Given the description of an element on the screen output the (x, y) to click on. 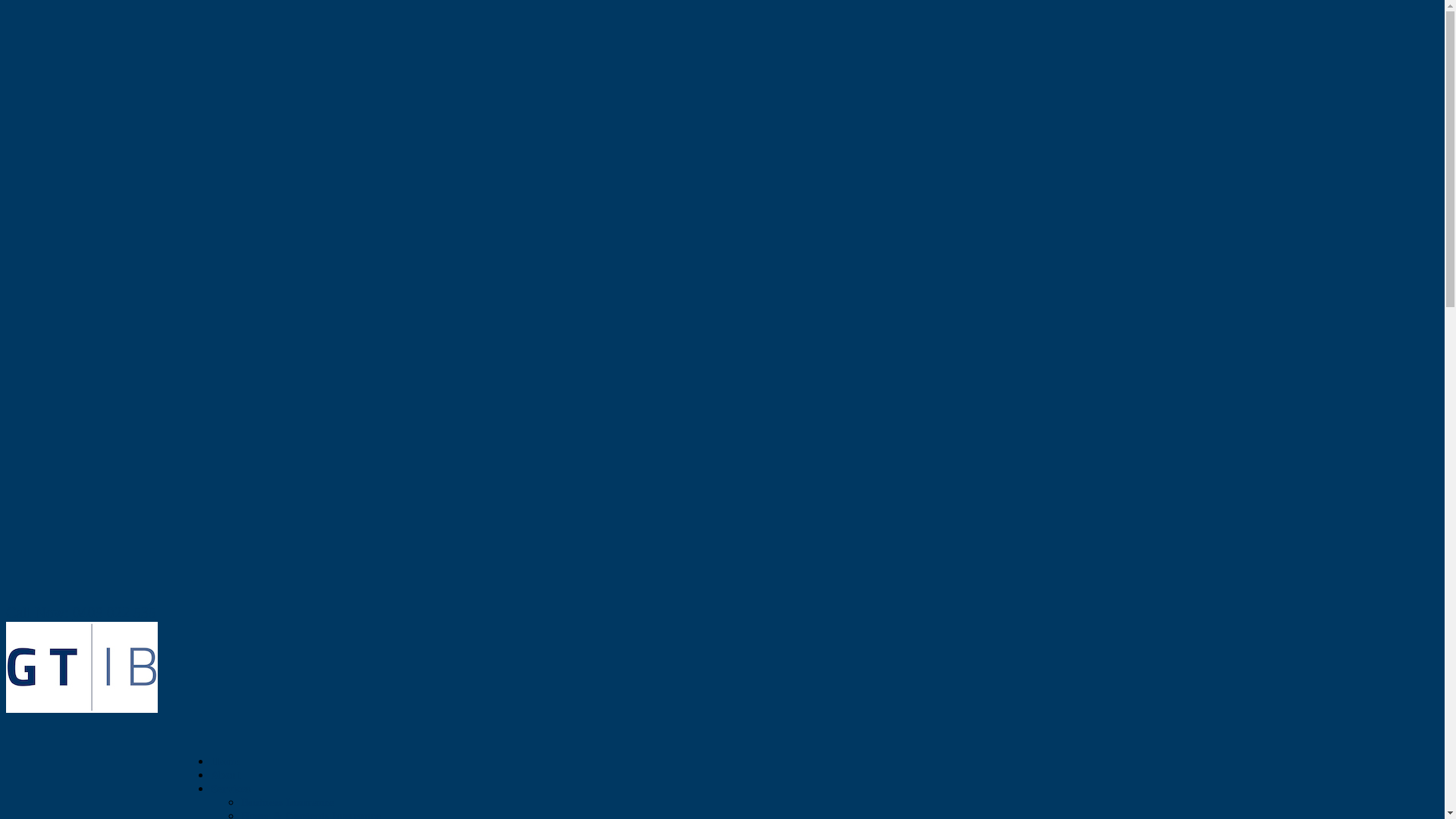
Call Now: Element type: text (39, 612)
0409 022 535 Element type: text (114, 612)
Business Insurance Element type: text (287, 802)
About Element type: text (225, 787)
Home Element type: text (224, 774)
